Given the description of an element on the screen output the (x, y) to click on. 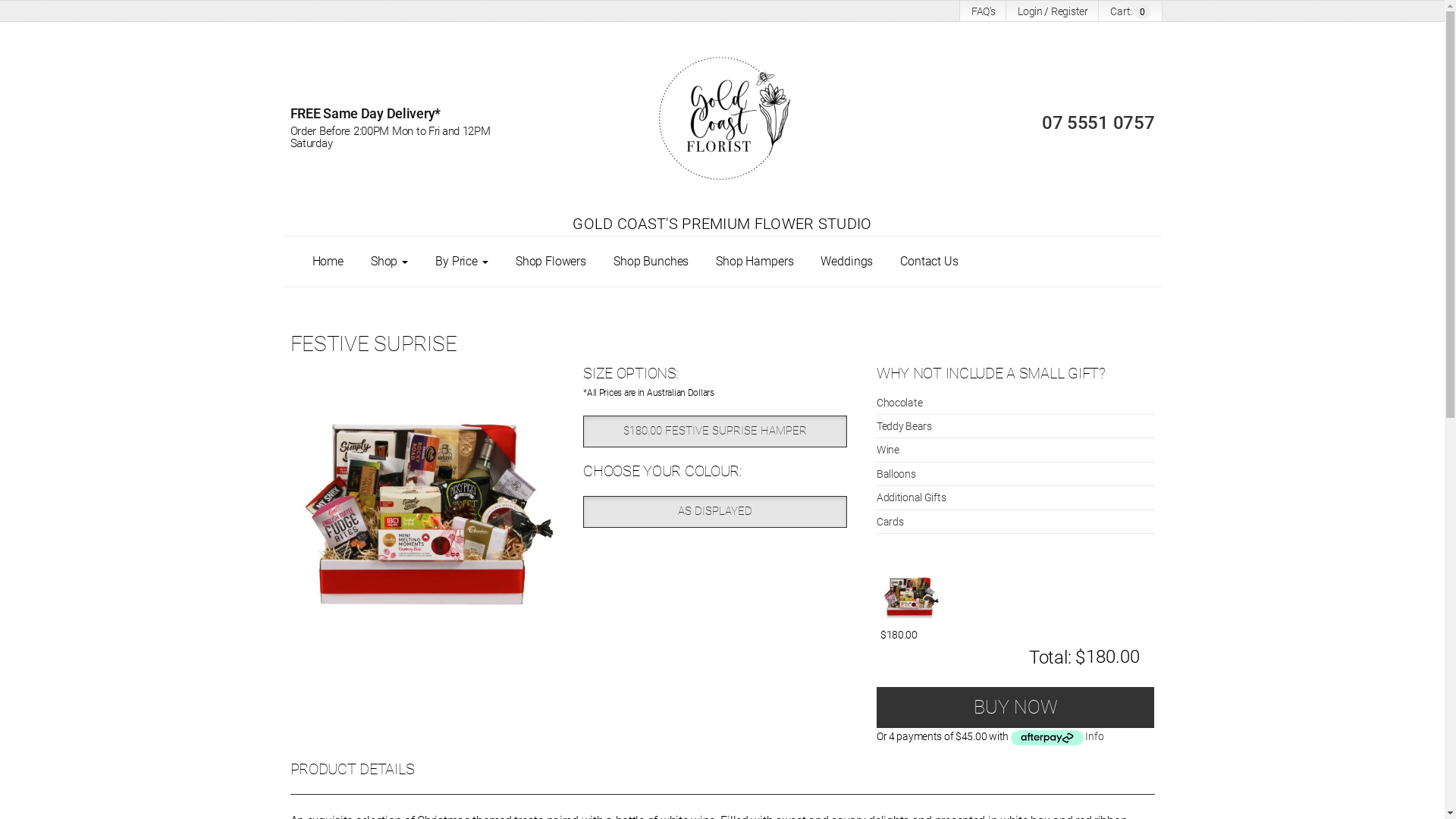
Cart: 0 Element type: text (1129, 11)
07 5551 0757 Element type: text (1097, 122)
Home Element type: text (327, 261)
BUY NOW Element type: text (1015, 707)
Login Element type: text (1029, 11)
Balloons Element type: text (1015, 473)
Shop Bunches Element type: text (650, 261)
Festive Suprise Element type: hover (428, 503)
Shop Flowers Element type: text (550, 261)
Contact Us Element type: text (929, 261)
Shop Element type: text (389, 261)
$180.00 FESTIVE SUPRISE HAMPER Element type: text (715, 431)
Weddings Element type: text (846, 261)
Info Element type: text (1094, 736)
FAQ's Element type: text (983, 11)
Wine Element type: text (1015, 449)
Cards Element type: text (1015, 521)
By Price Element type: text (461, 261)
Chocolate Element type: text (1015, 402)
Teddy Bears Element type: text (1015, 425)
Shop Hampers Element type: text (754, 261)
Additional Gifts Element type: text (1015, 497)
Register Element type: text (1069, 11)
